Given the description of an element on the screen output the (x, y) to click on. 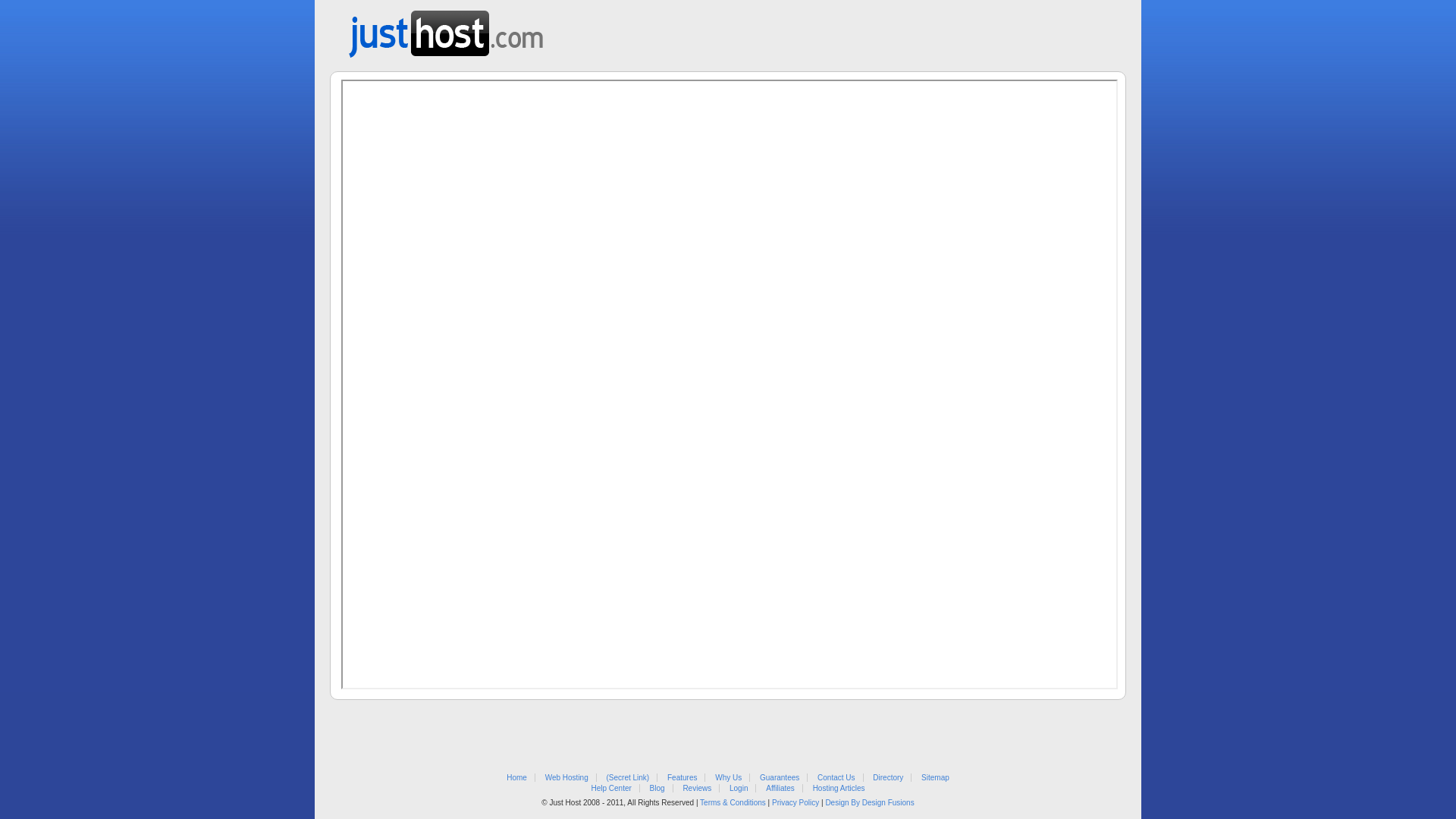
Contact Us Element type: text (835, 777)
Privacy Policy Element type: text (795, 802)
Hosting Articles Element type: text (838, 788)
Home Element type: text (516, 777)
Affiliates Element type: text (779, 788)
Help Center Element type: text (610, 788)
Blog Element type: text (657, 788)
Design By Design Fusions Element type: text (869, 802)
(Secret Link) Element type: text (627, 777)
Guarantees Element type: text (779, 777)
Sitemap Element type: text (935, 777)
Directory Element type: text (887, 777)
Login Element type: text (738, 788)
Web Hosting Element type: text (566, 777)
Terms & Conditions Element type: text (732, 802)
Features Element type: text (681, 777)
Reviews Element type: text (696, 788)
Web Hosting from Just Host Element type: text (445, 28)
Why Us Element type: text (728, 777)
